Given the description of an element on the screen output the (x, y) to click on. 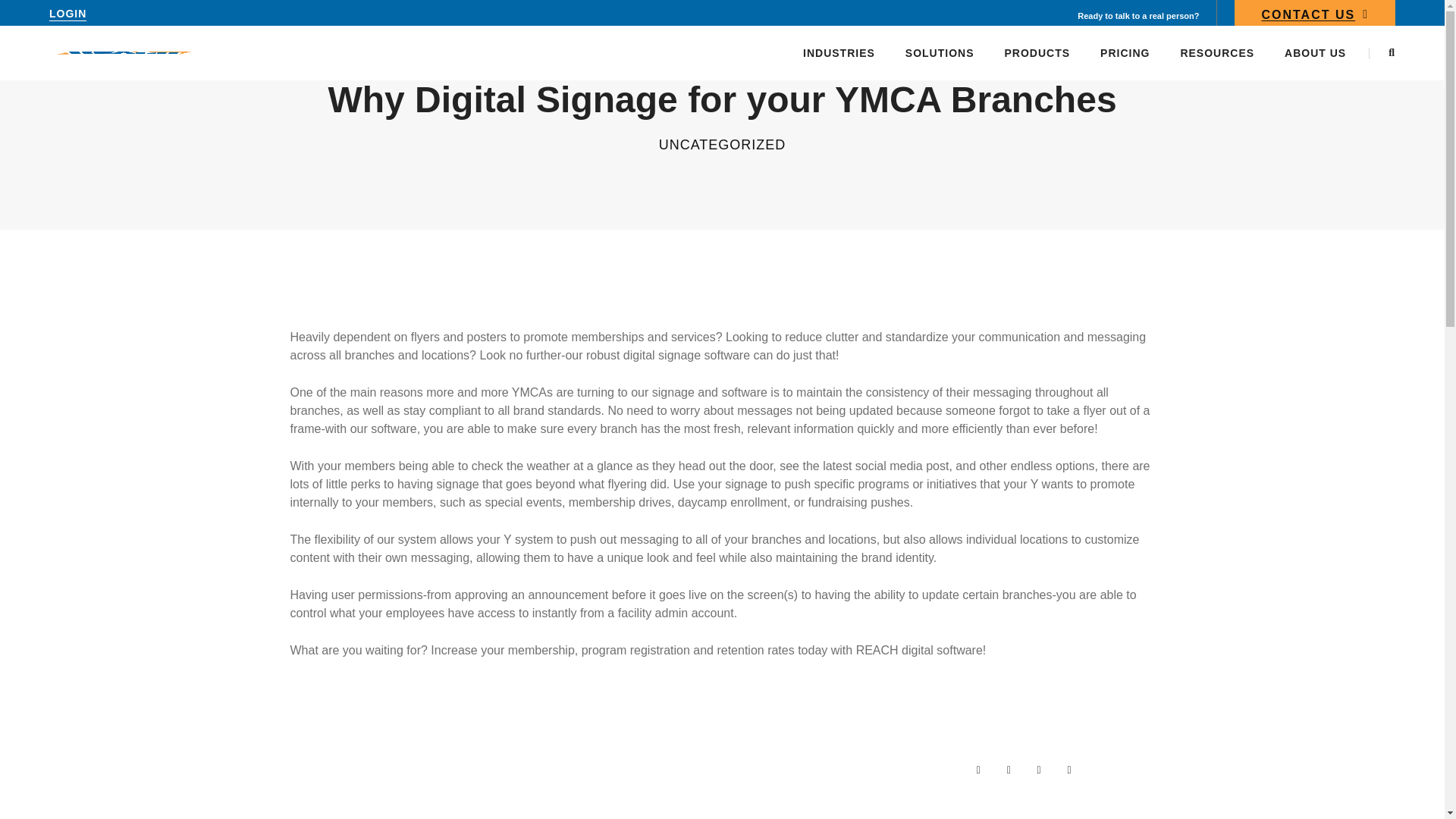
INDUSTRIES (839, 52)
CONTACT US (1314, 16)
PRICING (1125, 52)
LOGIN (67, 13)
SOLUTIONS (939, 52)
RESOURCES (1216, 52)
PRODUCTS (1037, 52)
REACH Media Network (124, 51)
